Given the description of an element on the screen output the (x, y) to click on. 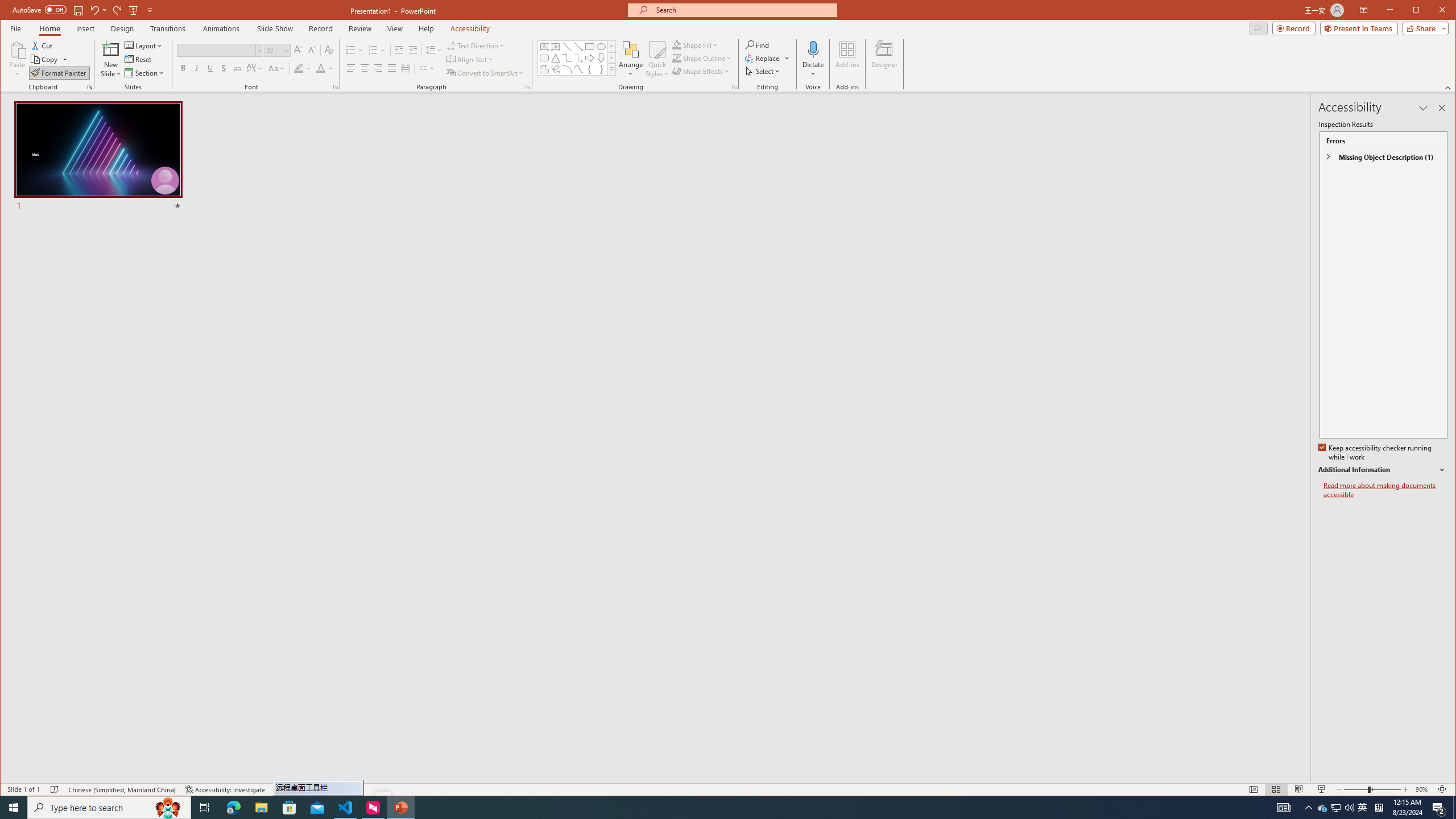
Maximize (1432, 11)
Shape Outline Blue, Accent 1 (676, 57)
